Given the description of an element on the screen output the (x, y) to click on. 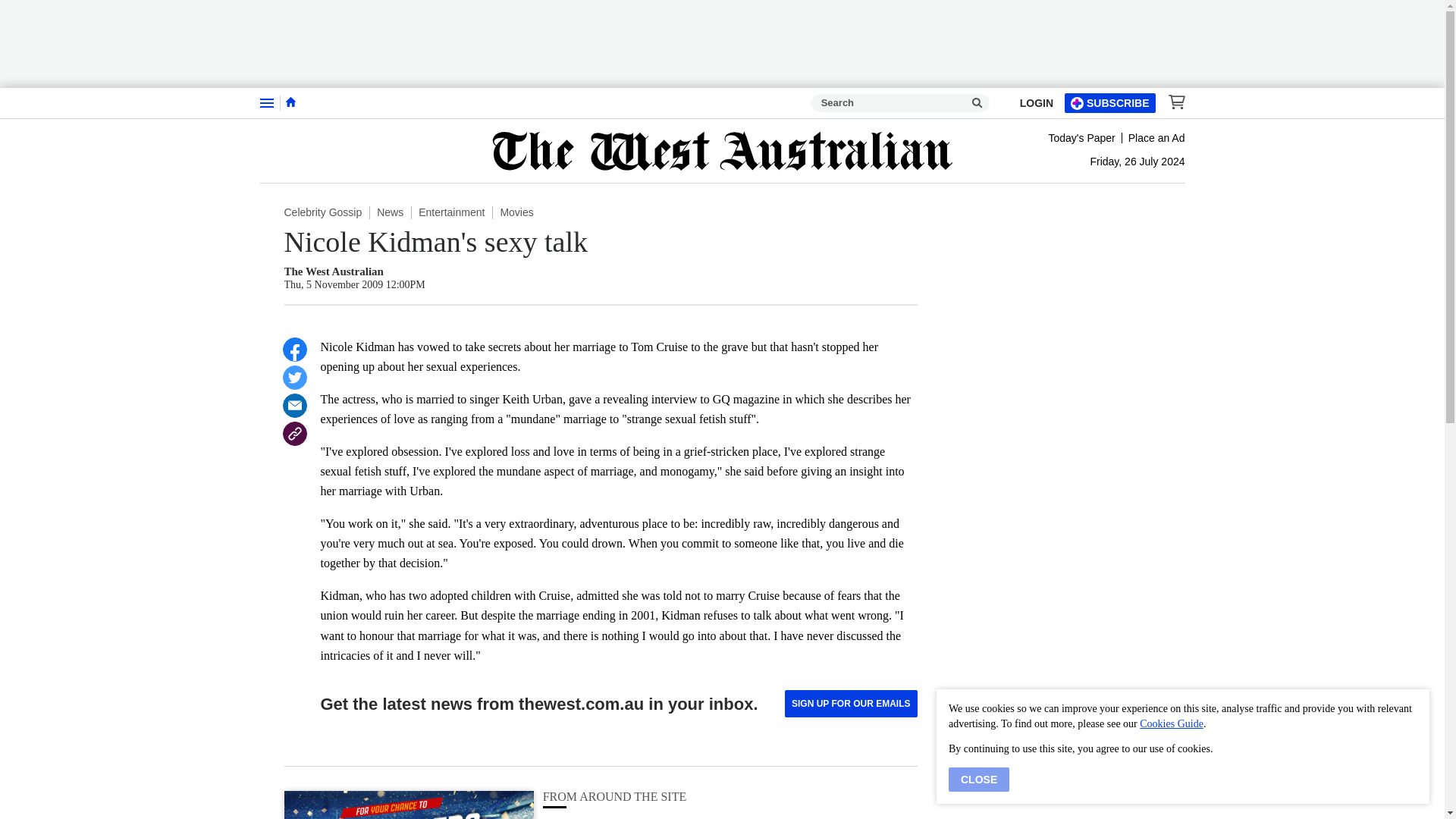
Empty Cart Icon (1172, 102)
Home (290, 102)
Please enter a search term. (977, 102)
